Given the description of an element on the screen output the (x, y) to click on. 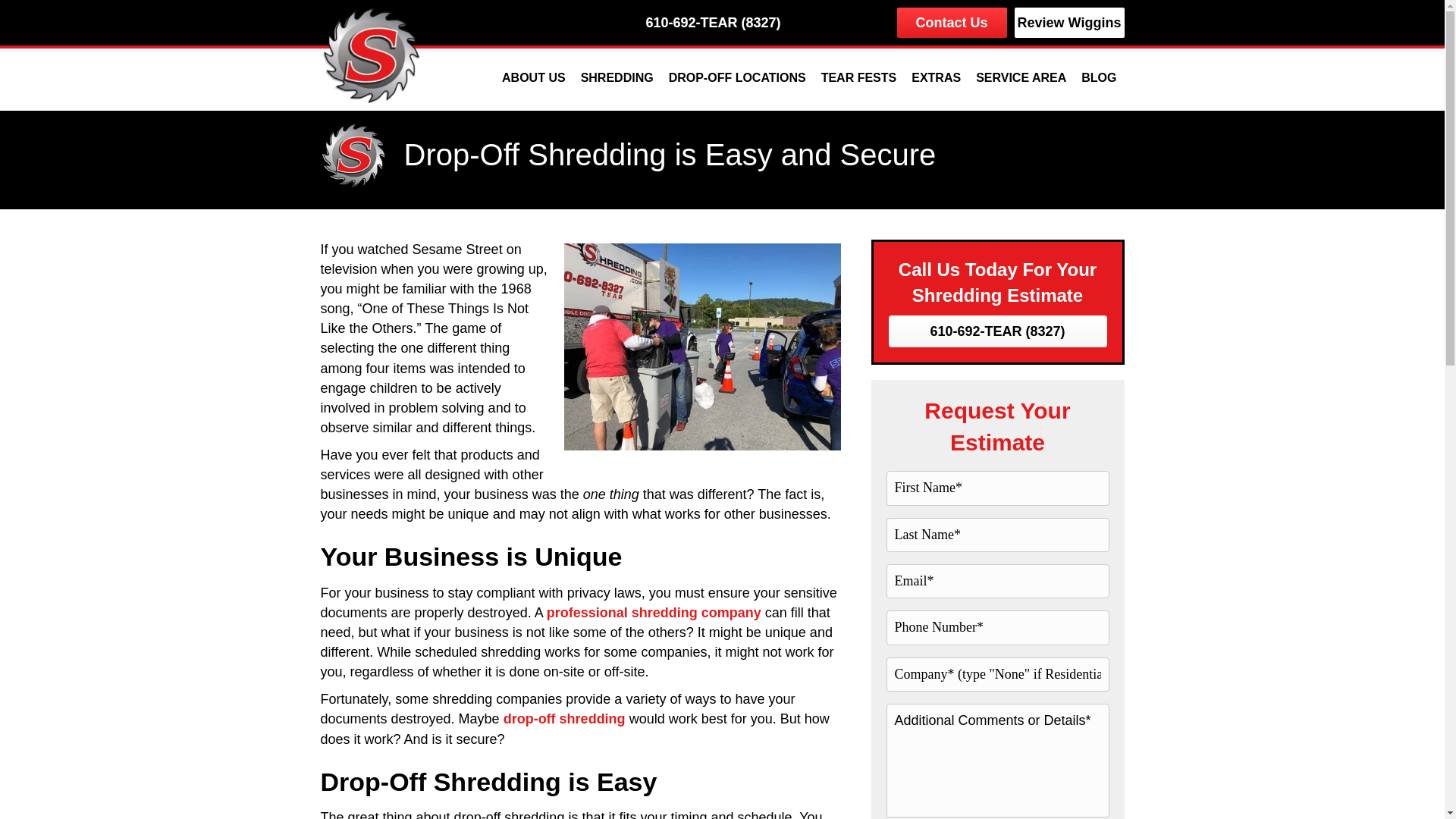
EXTRAS (935, 77)
DROP-OFF LOCATIONS (737, 77)
ABOUT US (533, 77)
Review Wiggins (1069, 22)
SHREDDING (617, 77)
Blade3 (354, 151)
BLOG (1098, 77)
Blade3 (371, 51)
SERVICE AREA (1021, 77)
Contact Us (951, 22)
